Given the description of an element on the screen output the (x, y) to click on. 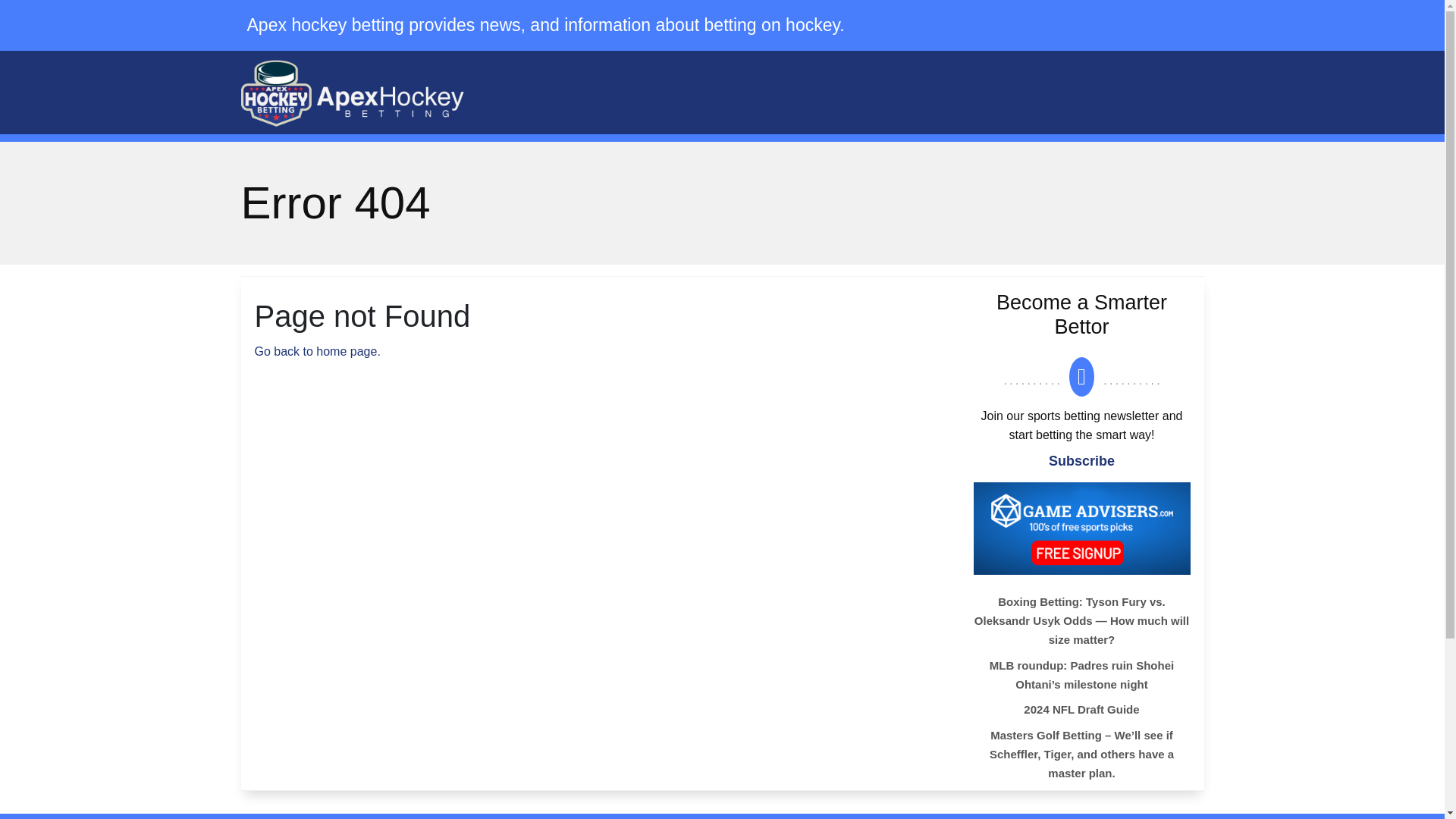
Subscribe (1081, 460)
Go back to home page. (317, 350)
2024 NFL Draft Guide (1131, 710)
